Given the description of an element on the screen output the (x, y) to click on. 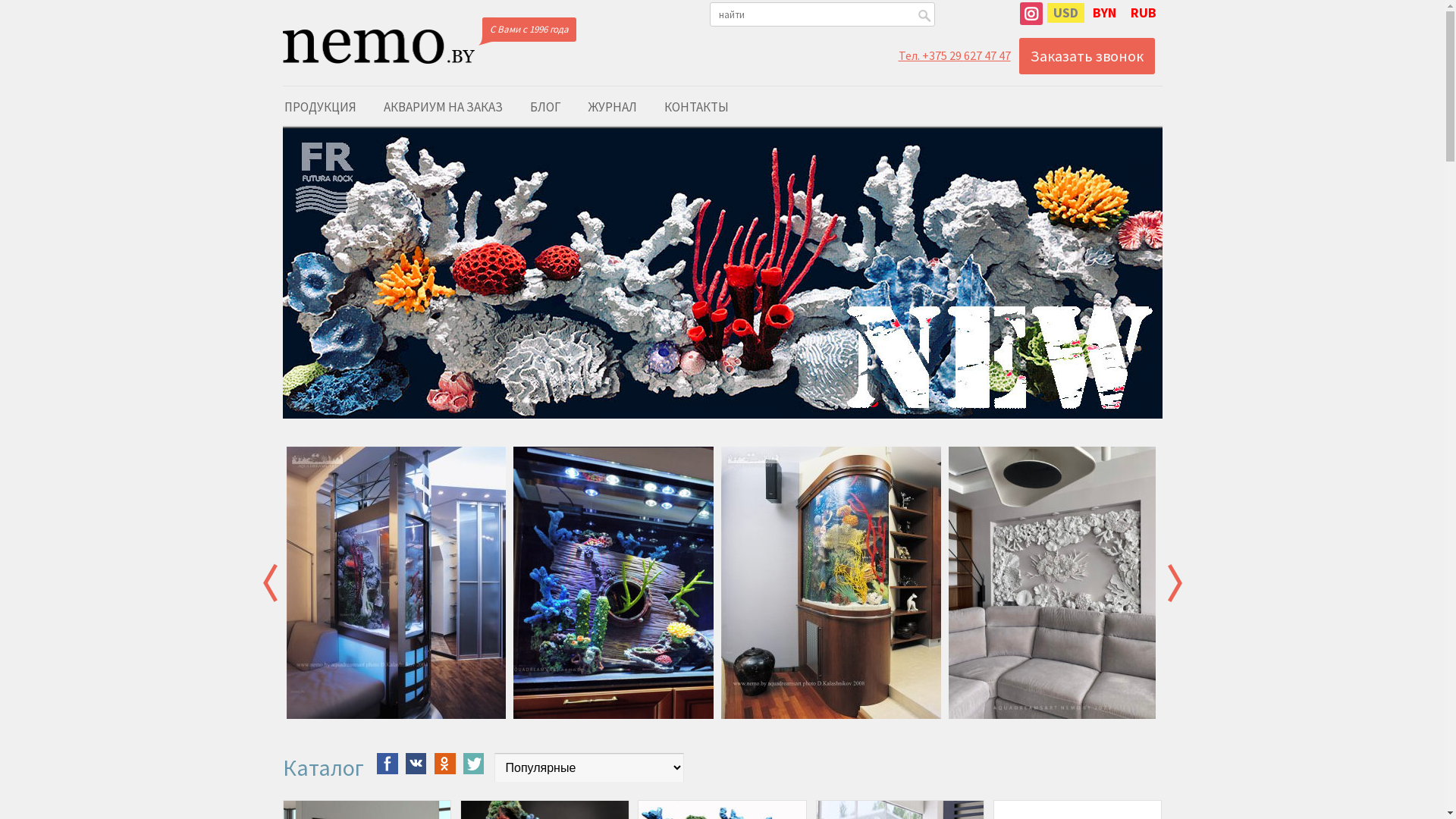
Next Element type: text (1174, 582)
RUB Element type: text (1142, 12)
BYN Element type: text (1103, 12)
Twitter Element type: text (472, 763)
Facebook Element type: text (386, 763)
USD Element type: text (1064, 12)
Previous Element type: text (269, 582)
